Given the description of an element on the screen output the (x, y) to click on. 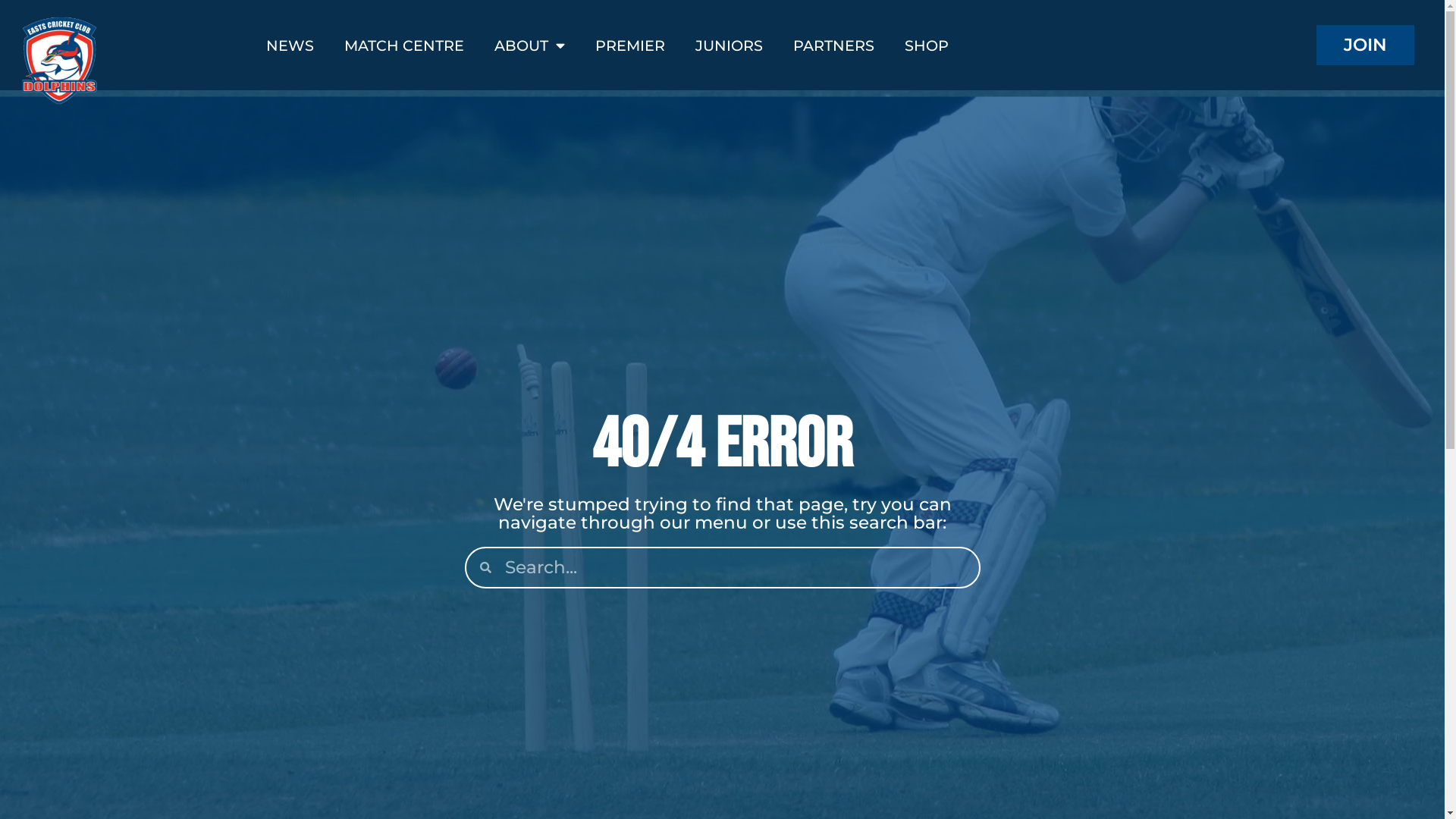
SHOP Element type: text (926, 44)
NEWS Element type: text (290, 44)
PARTNERS Element type: text (833, 44)
ABOUT Element type: text (529, 44)
JUNIORS Element type: text (729, 44)
JOIN Element type: text (1365, 44)
MATCH CENTRE Element type: text (404, 44)
PREMIER Element type: text (630, 44)
